Given the description of an element on the screen output the (x, y) to click on. 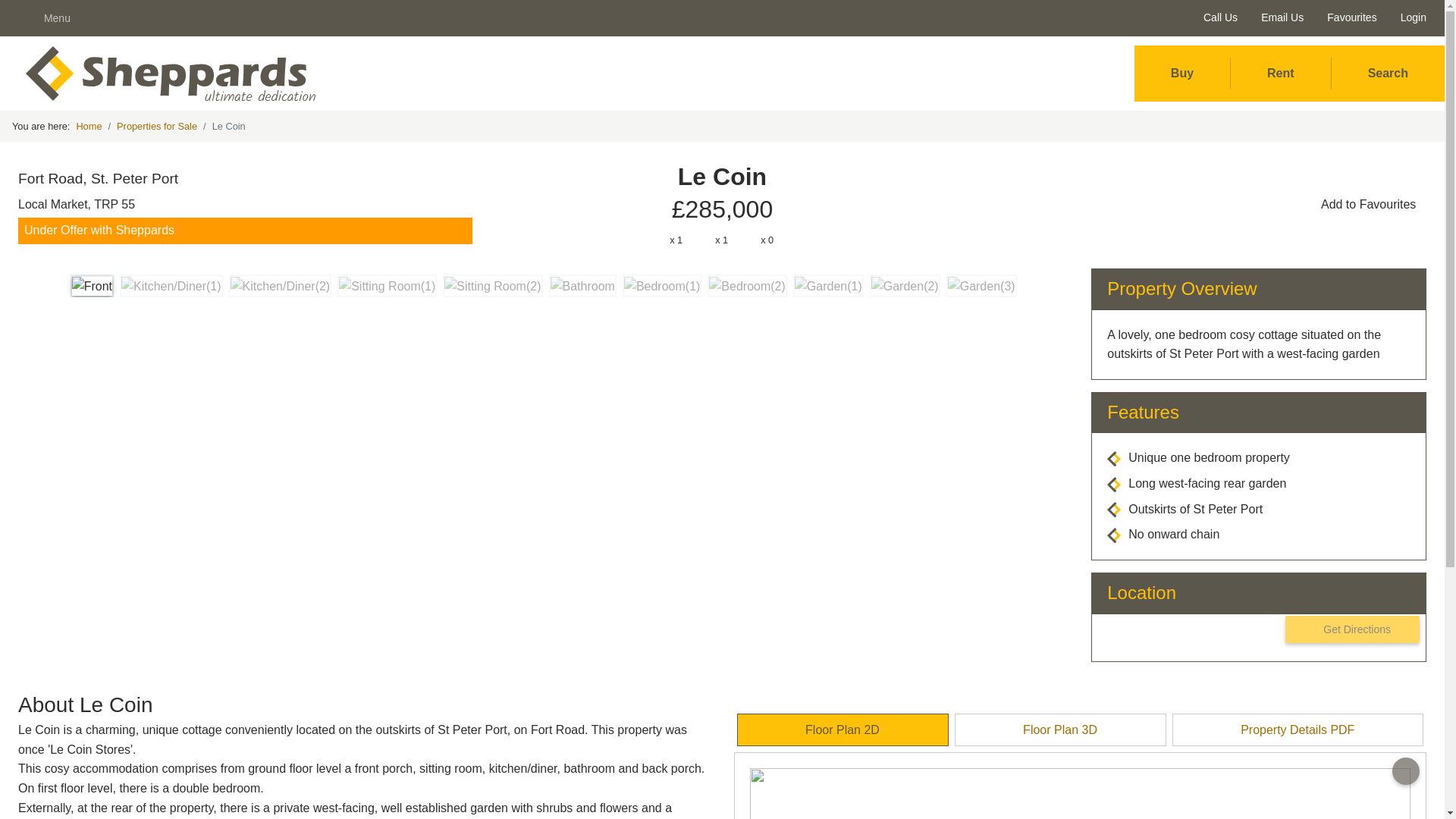
Property Details PDF (1297, 729)
Contact (1000, 587)
Privacy Policy (49, 558)
Email Us (1279, 17)
Terms and Conditions (70, 581)
Login (1410, 17)
Get Directions (1352, 628)
Login (1410, 17)
Contact (1000, 587)
Buy (1181, 73)
Progressive Web App by PJWD.Net (1403, 800)
Properties for Sale (149, 126)
Menu (52, 17)
Email Us (1279, 17)
Terms of Use (46, 603)
